Given the description of an element on the screen output the (x, y) to click on. 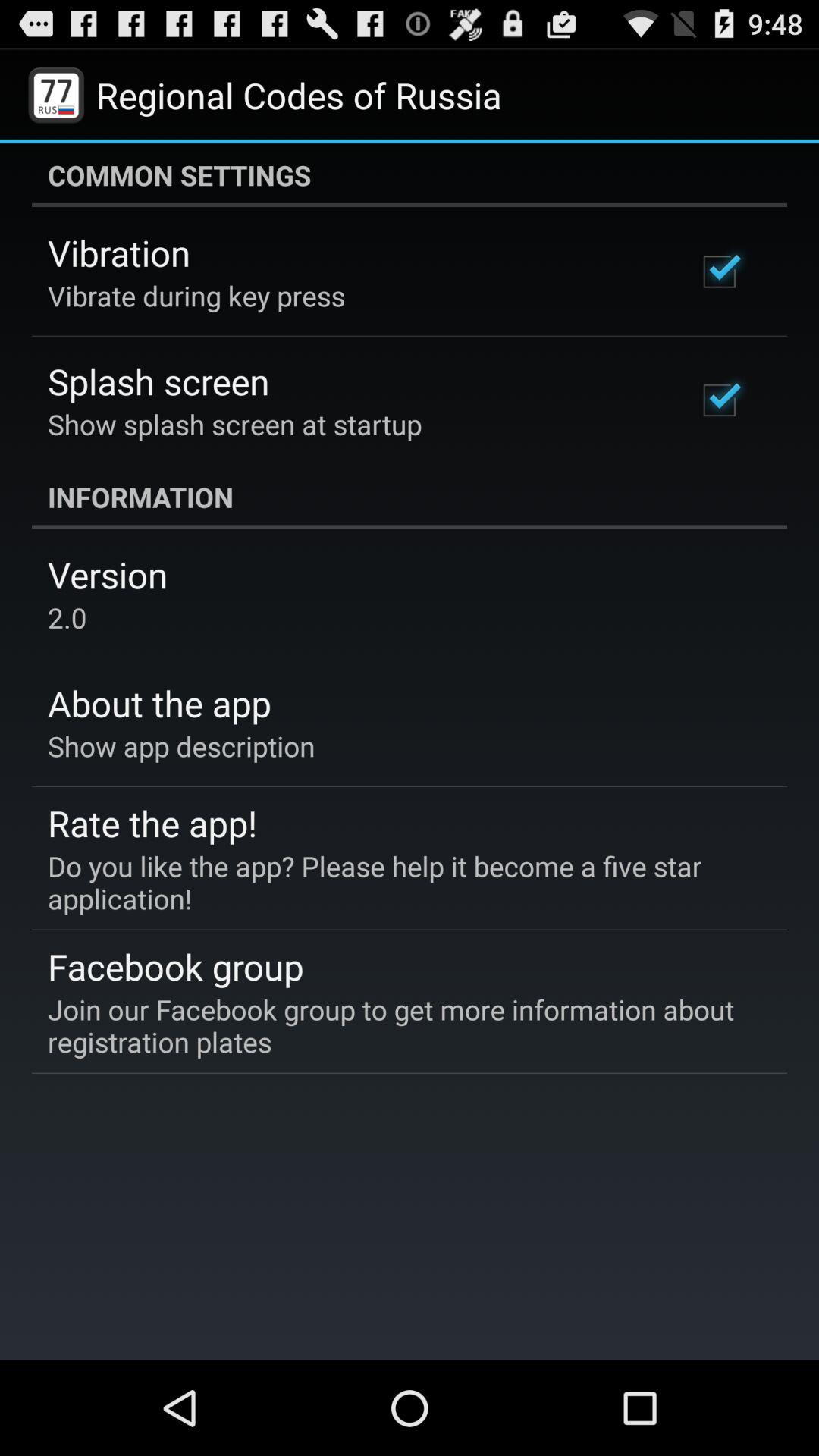
tap the item below common settings item (118, 252)
